Given the description of an element on the screen output the (x, y) to click on. 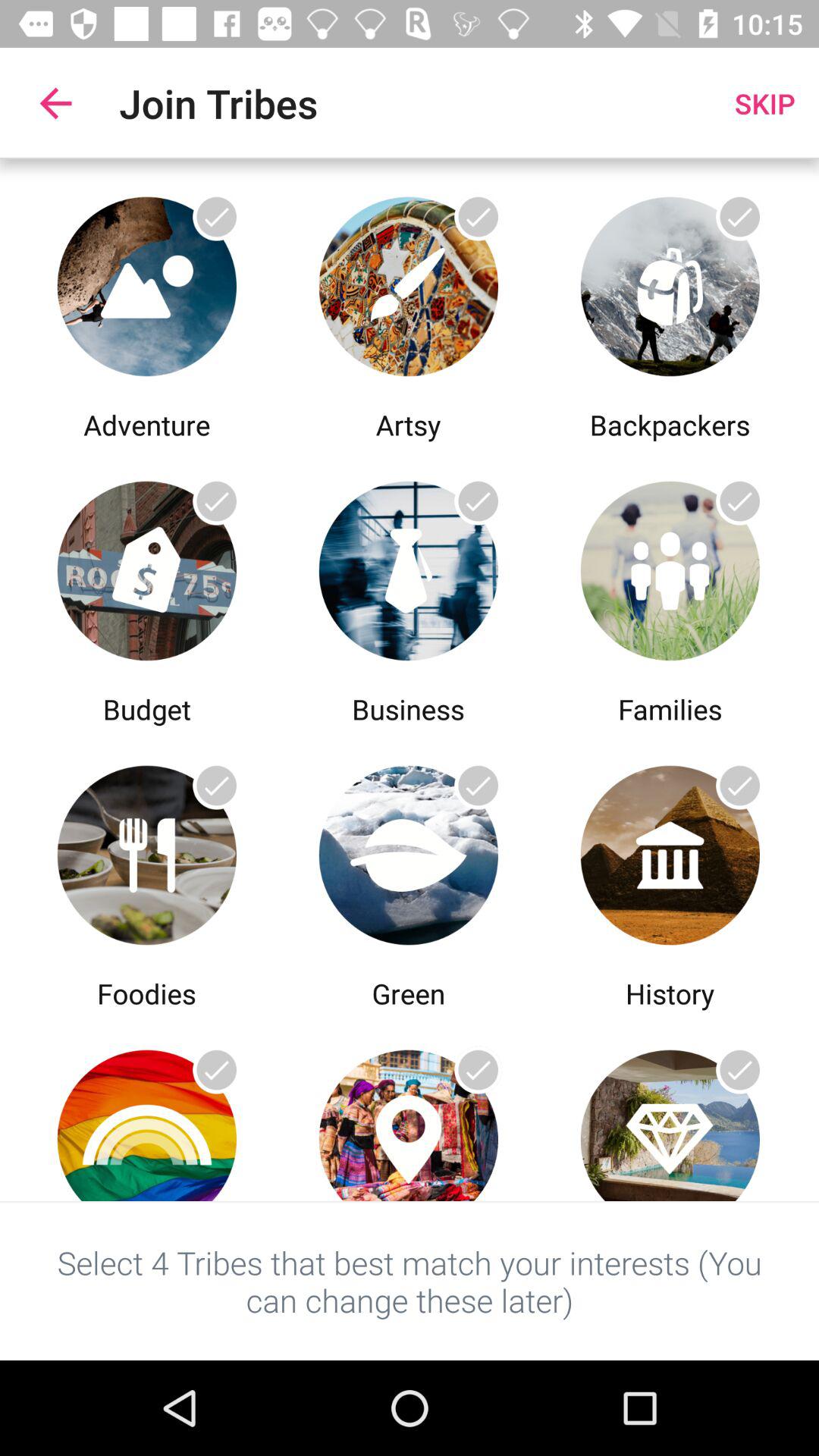
aelect the article (146, 566)
